Given the description of an element on the screen output the (x, y) to click on. 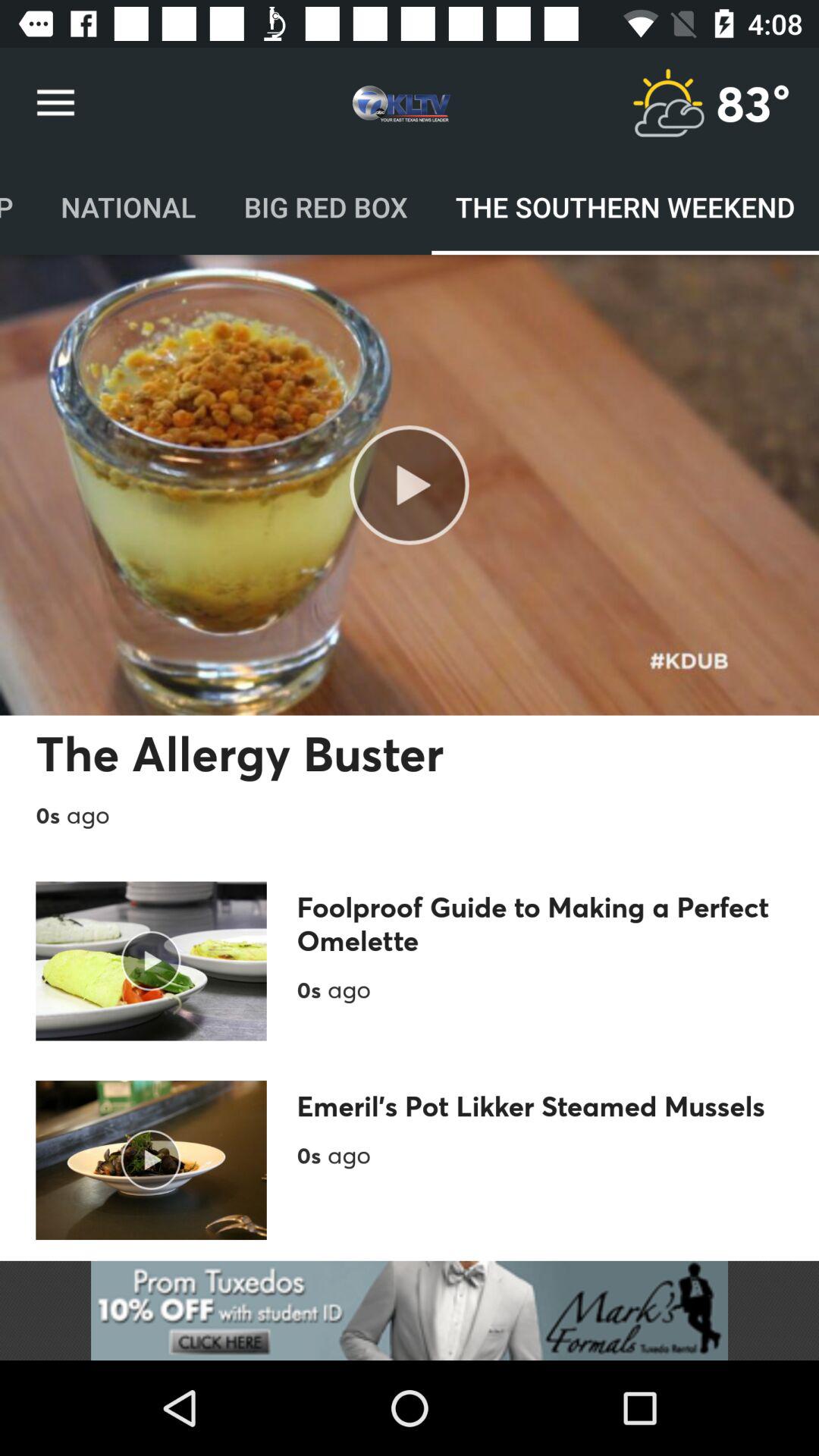
open the advertisement link (409, 1310)
